Given the description of an element on the screen output the (x, y) to click on. 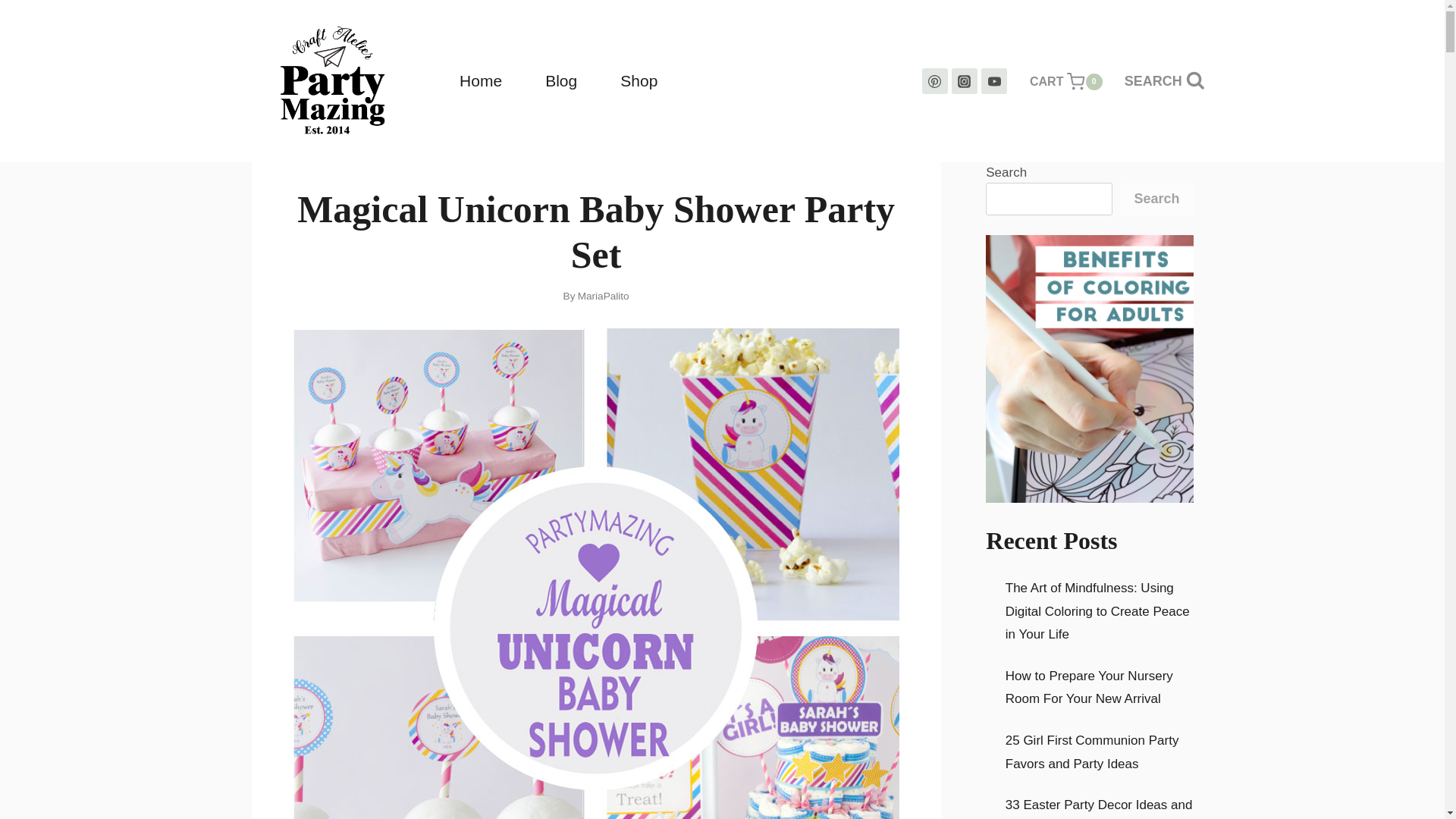
Shop (638, 81)
MariaPalito (1061, 80)
SEARCH (603, 296)
Blog (1164, 81)
Home (561, 81)
